Given the description of an element on the screen output the (x, y) to click on. 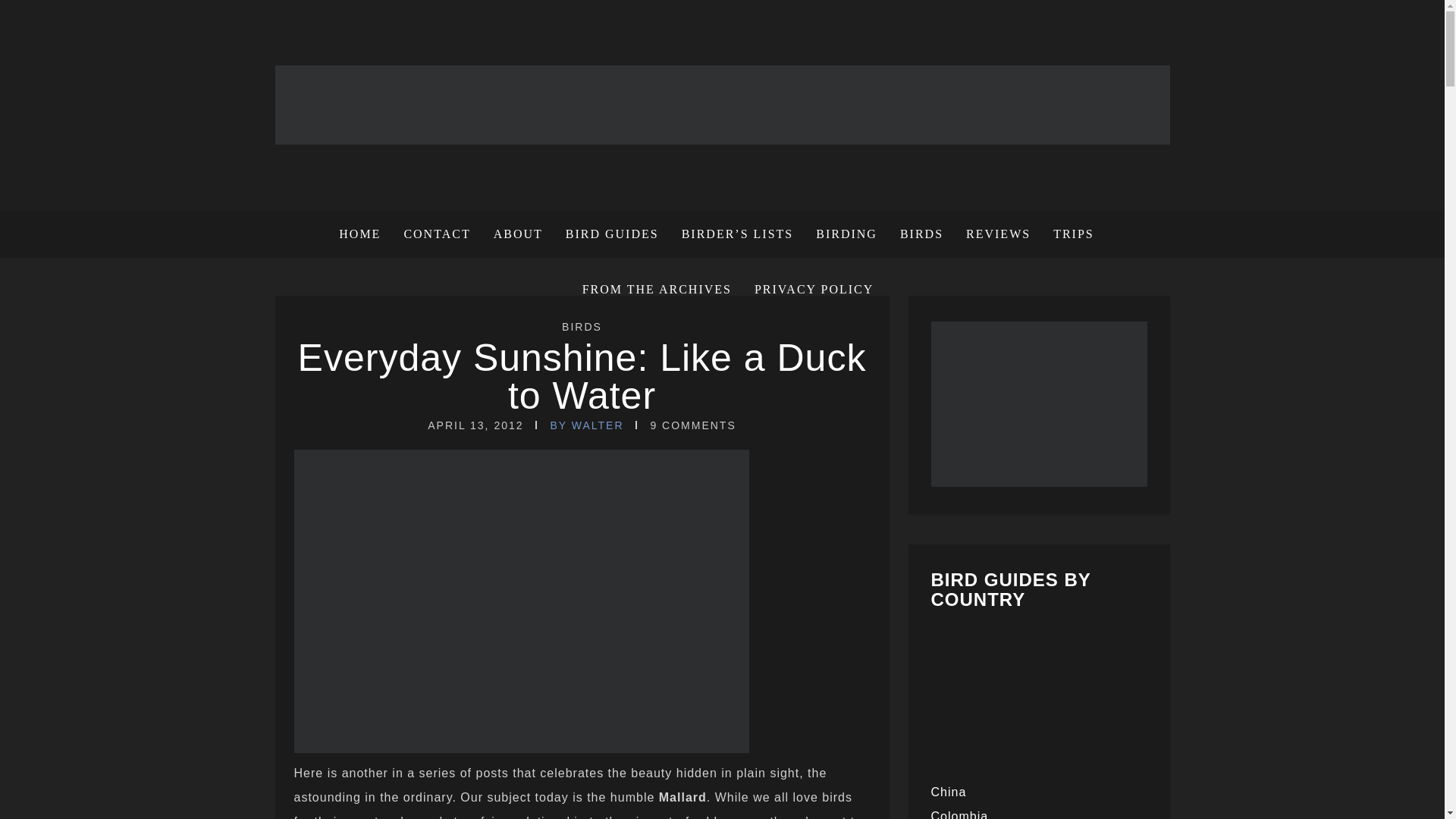
9 COMMENTS (692, 425)
TRIPS (1073, 233)
ABOUT (517, 233)
BIRDS (582, 326)
HOME (365, 233)
REVIEWS (998, 233)
PRIVACY POLICY (807, 289)
APRIL 13, 2012 (475, 425)
BIRD GUIDES (611, 233)
FROM THE ARCHIVES (656, 289)
